Given the description of an element on the screen output the (x, y) to click on. 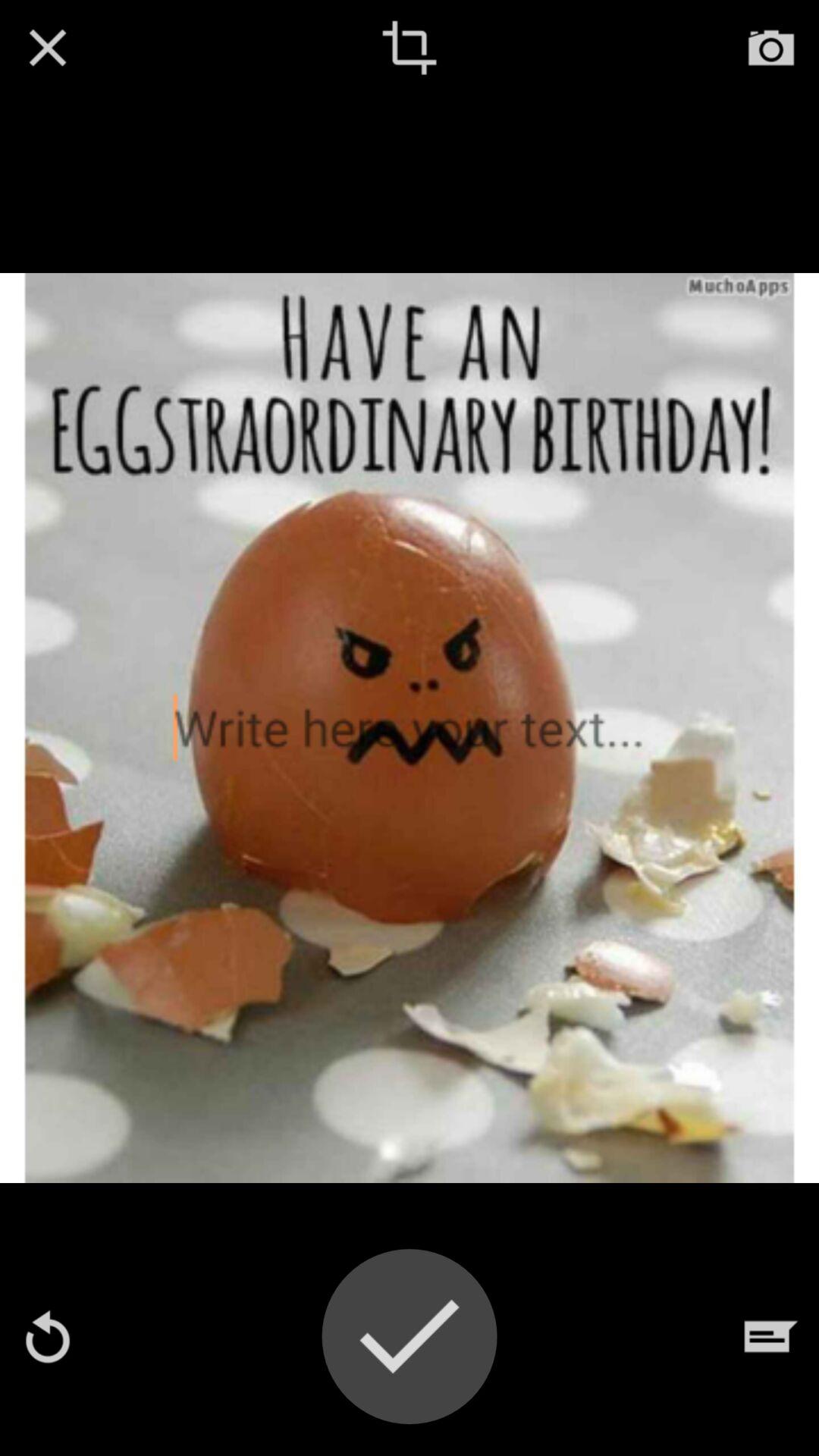
close (47, 47)
